Given the description of an element on the screen output the (x, y) to click on. 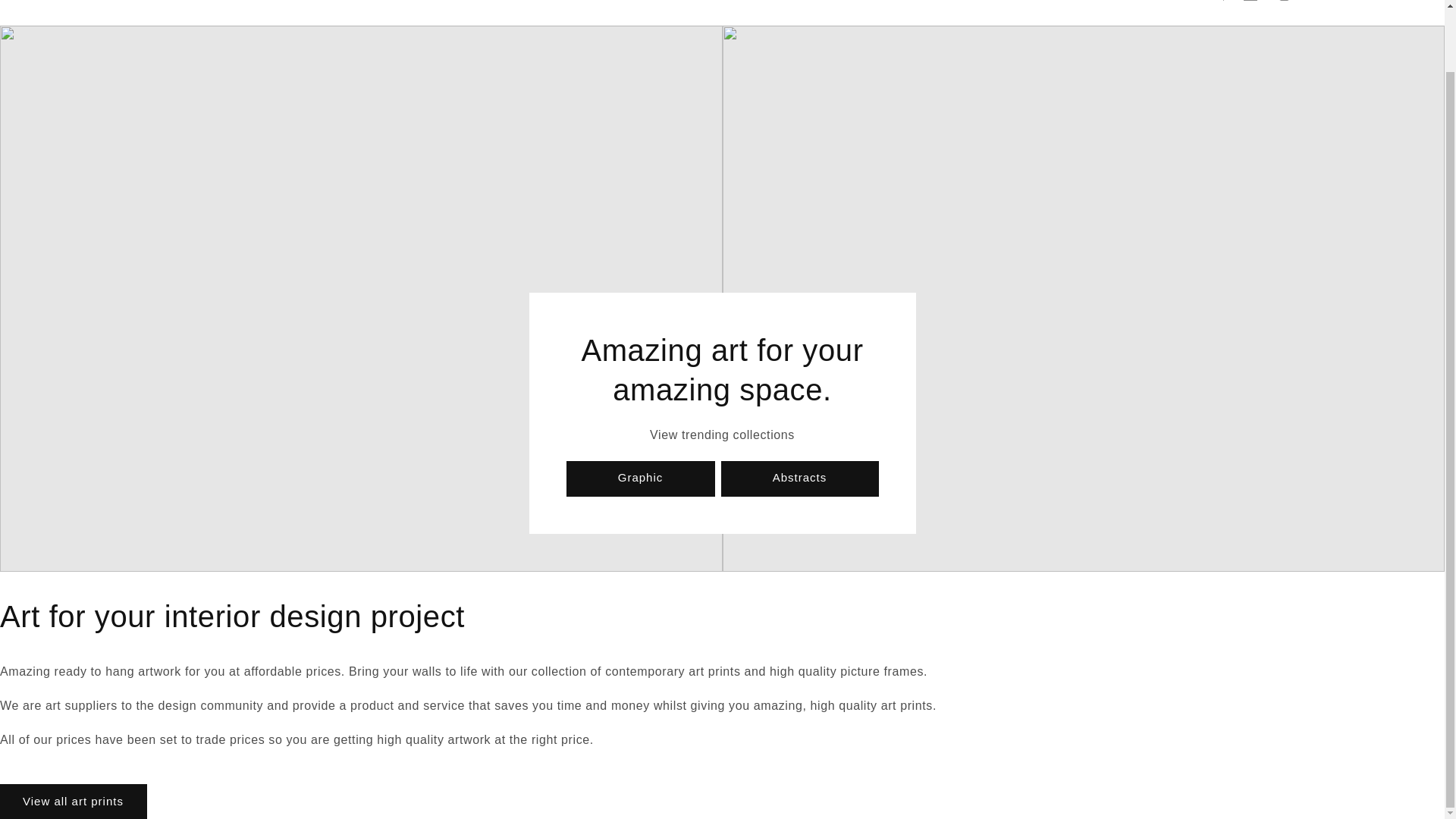
Gallery Walls (405, 4)
Home (261, 4)
Frames (477, 4)
